Given the description of an element on the screen output the (x, y) to click on. 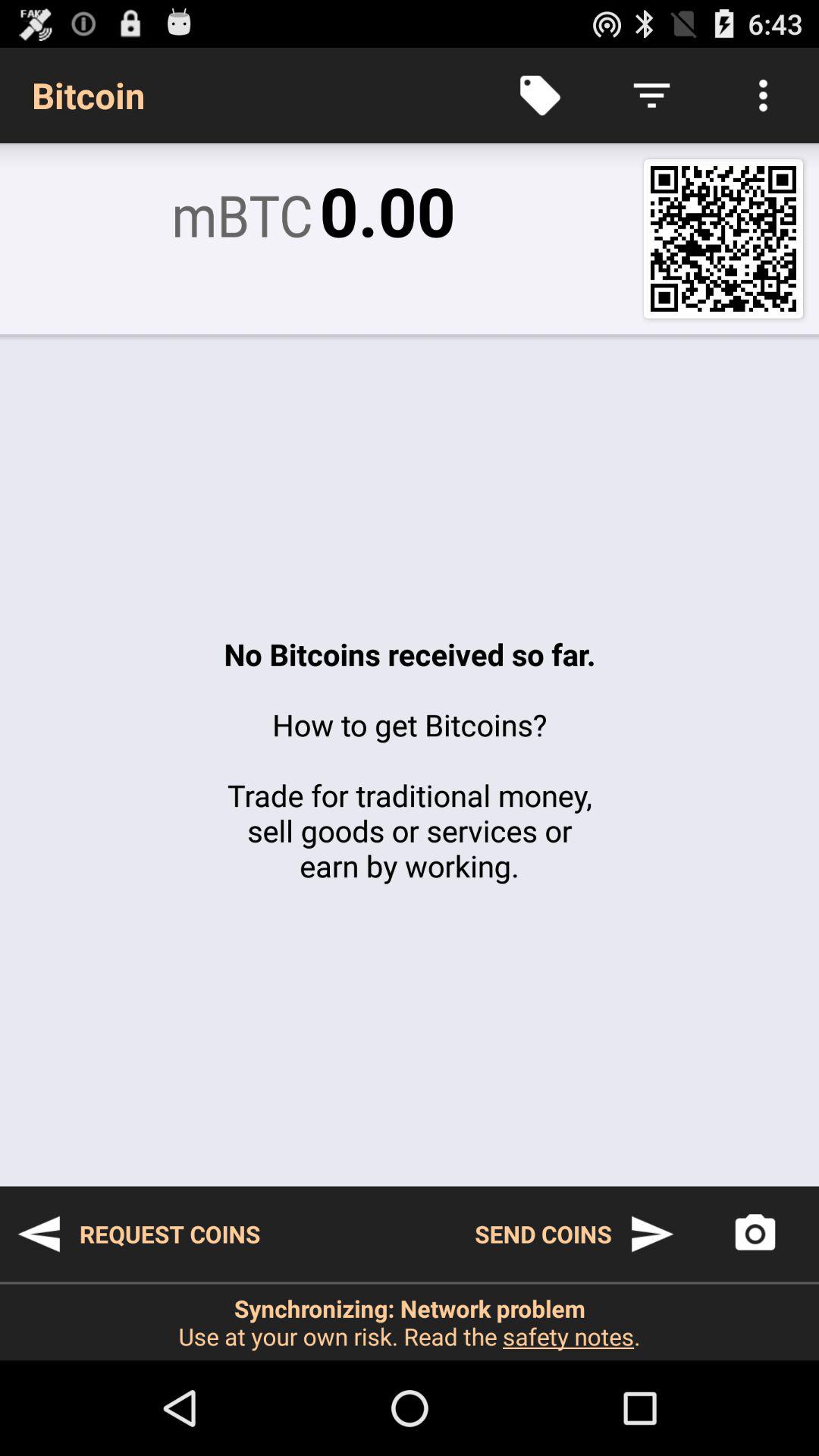
turn on the button next to the send coins button (755, 1233)
